Given the description of an element on the screen output the (x, y) to click on. 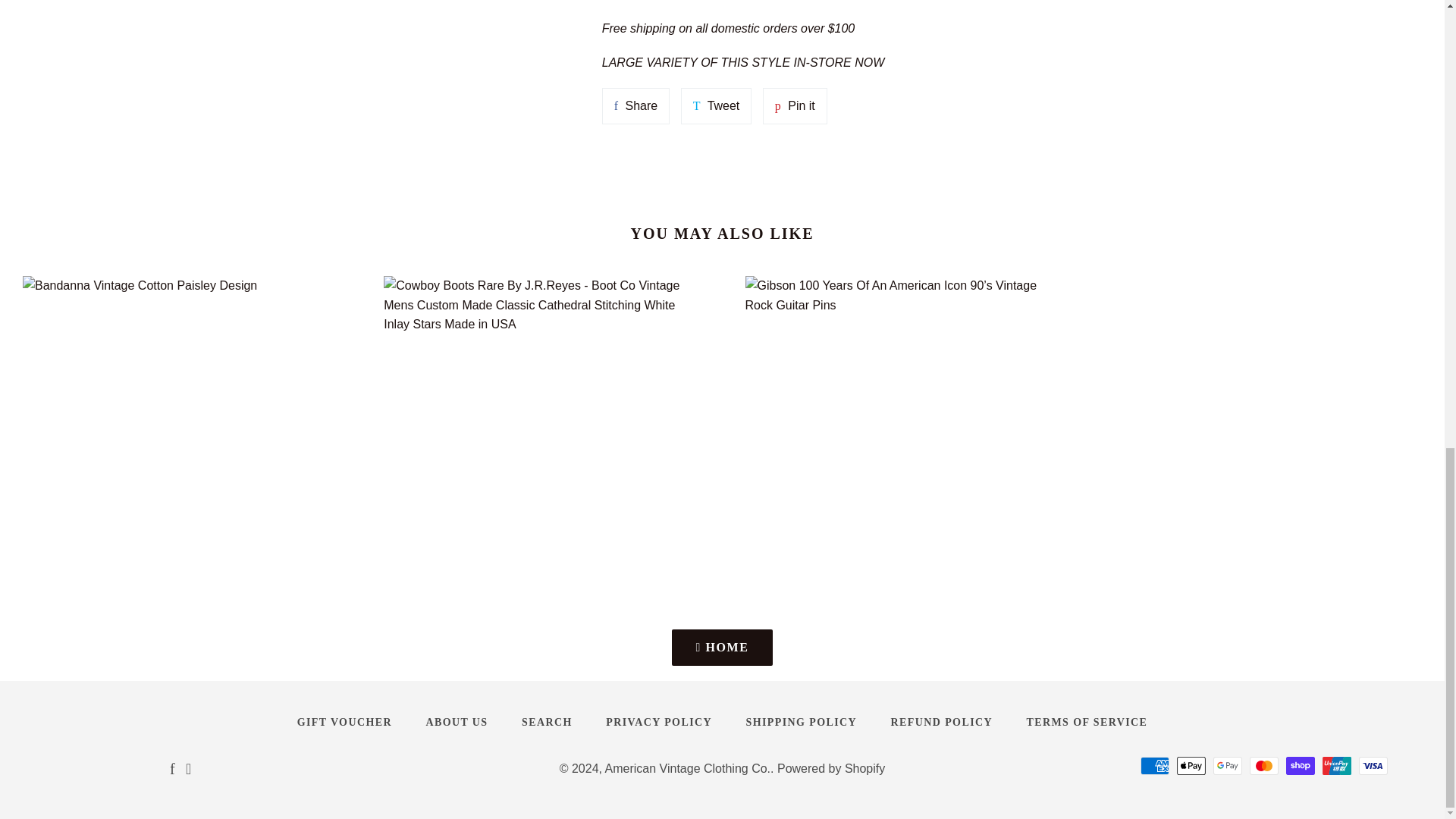
Pin on Pinterest (794, 105)
Visa (1372, 765)
Tweet on Twitter (716, 105)
Union Pay (1336, 765)
Share on Facebook (635, 105)
American Express (1154, 765)
Shop Pay (1299, 765)
Apple Pay (1190, 765)
Mastercard (1263, 765)
Google Pay (1226, 765)
